Given the description of an element on the screen output the (x, y) to click on. 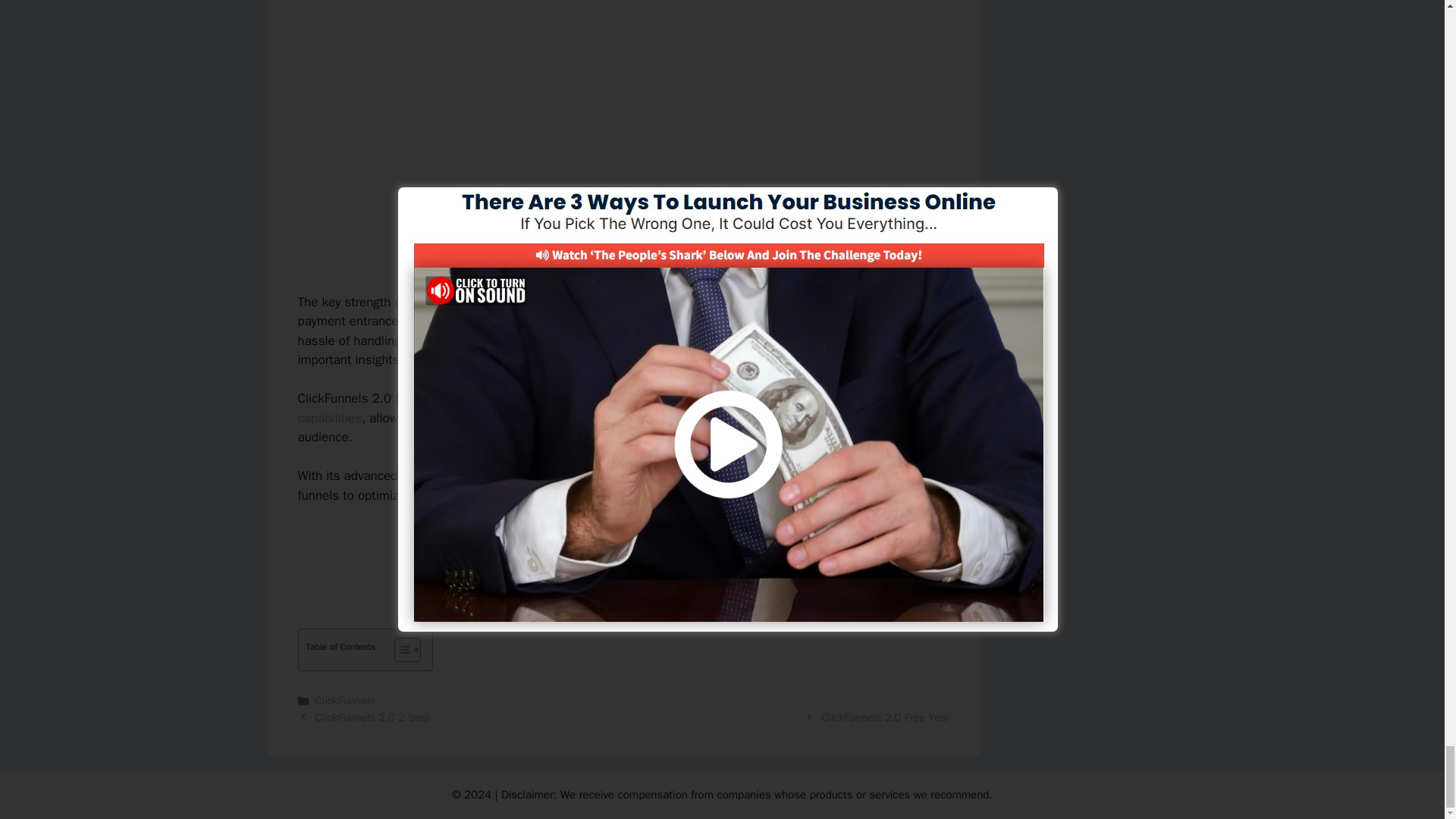
Activate Your ClickFunnels 2.0 Free Trial Here (622, 547)
data driven choices (718, 475)
analytics and tracking (461, 475)
